Given the description of an element on the screen output the (x, y) to click on. 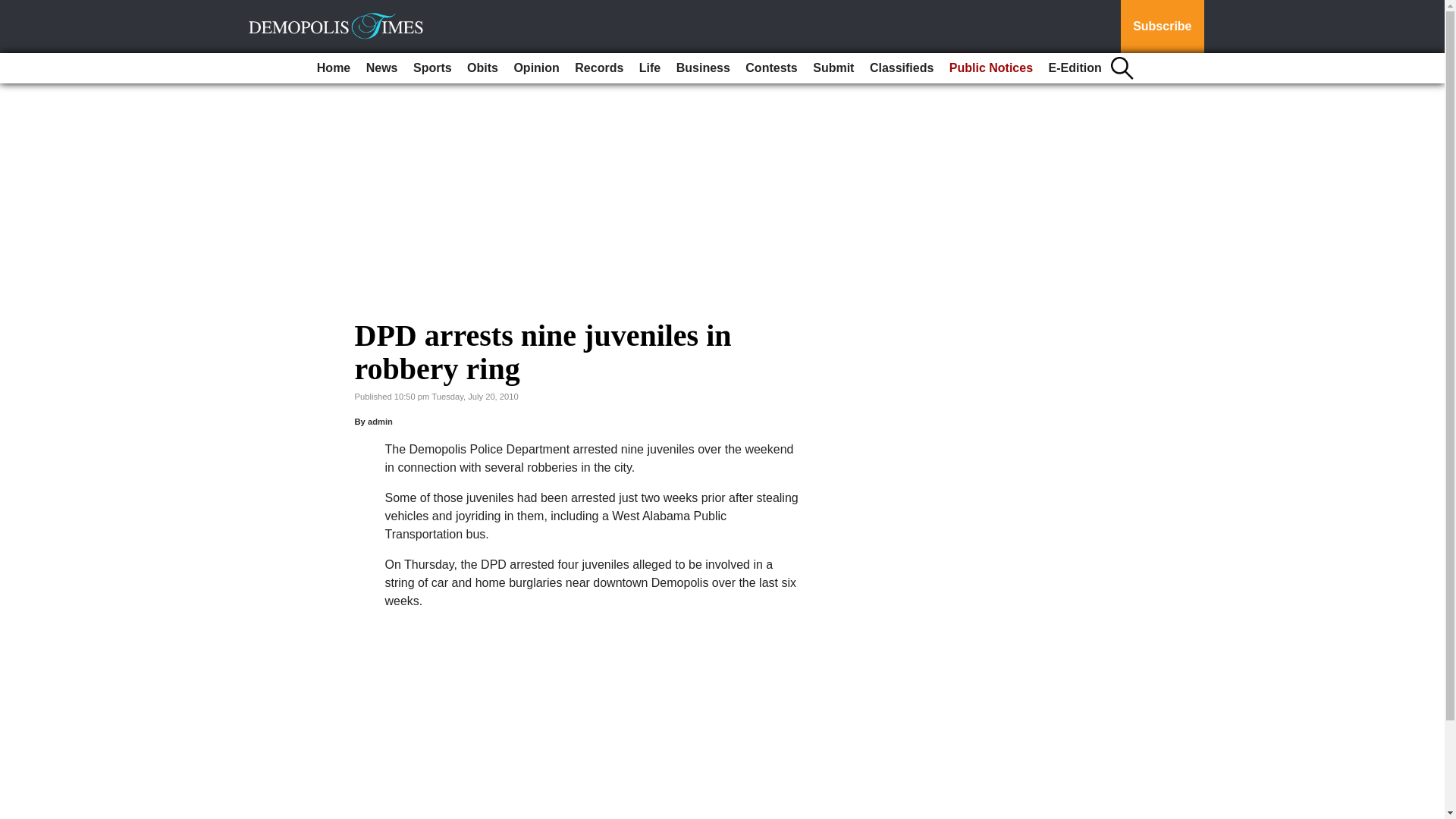
admin (380, 420)
Records (598, 68)
Public Notices (991, 68)
E-Edition (1075, 68)
Obits (482, 68)
Sports (432, 68)
Classifieds (901, 68)
News (381, 68)
Submit (833, 68)
Business (702, 68)
